Given the description of an element on the screen output the (x, y) to click on. 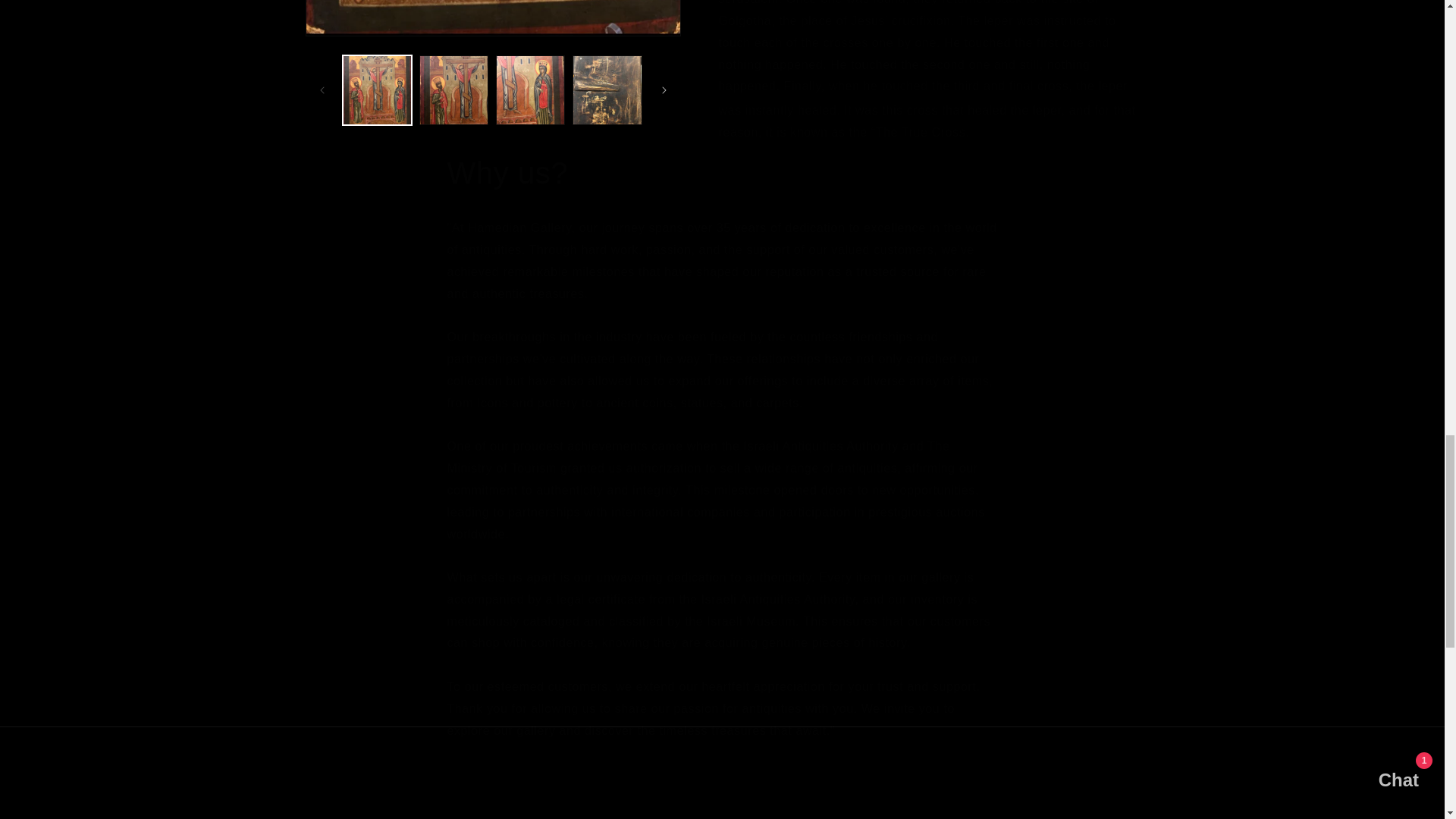
Why us? (721, 172)
